Given the description of an element on the screen output the (x, y) to click on. 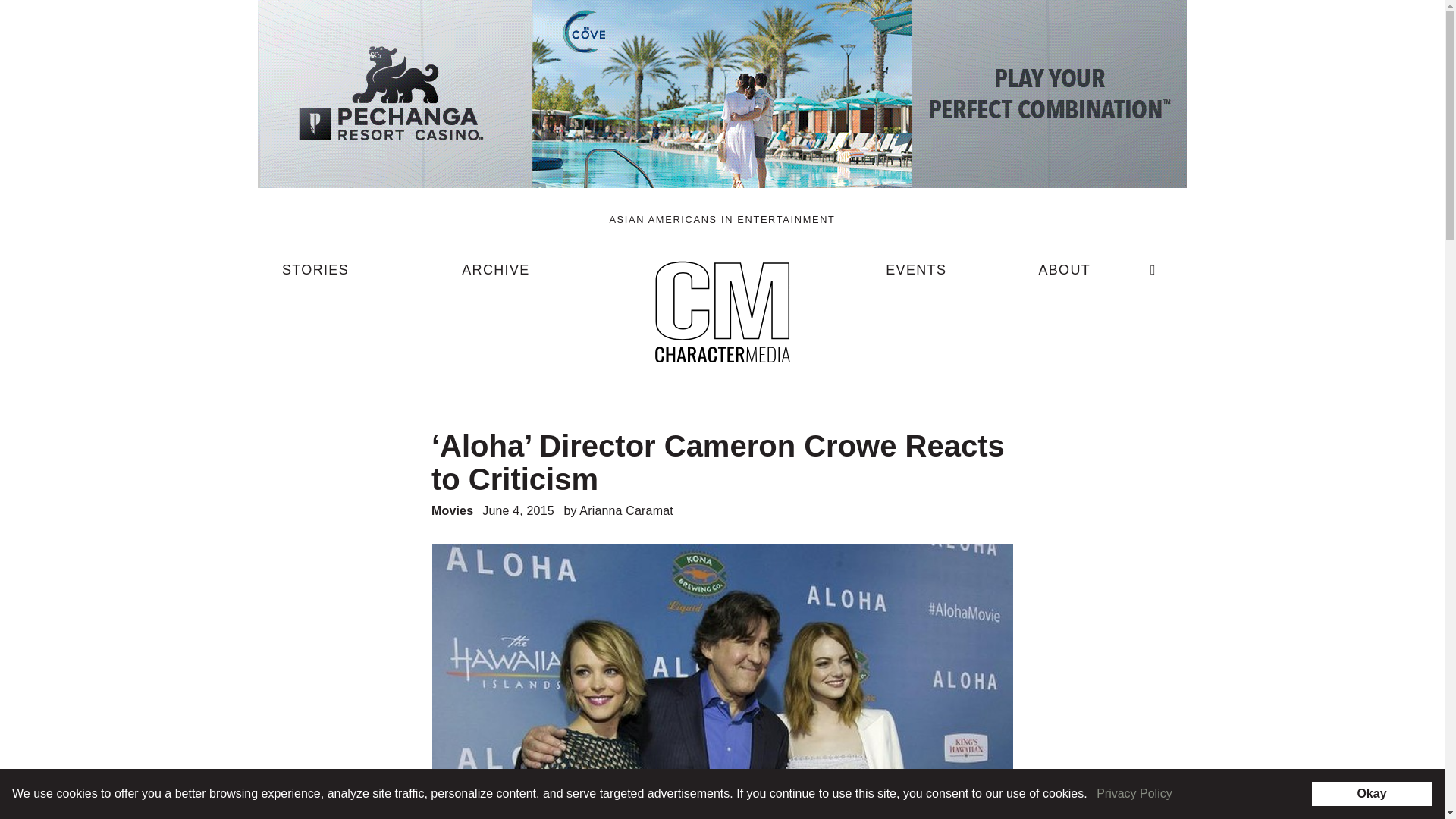
ABOUT (1064, 276)
Arianna Caramat (625, 510)
Movies (451, 510)
ARCHIVE (495, 276)
EVENTS (915, 276)
STORIES (315, 276)
